Given the description of an element on the screen output the (x, y) to click on. 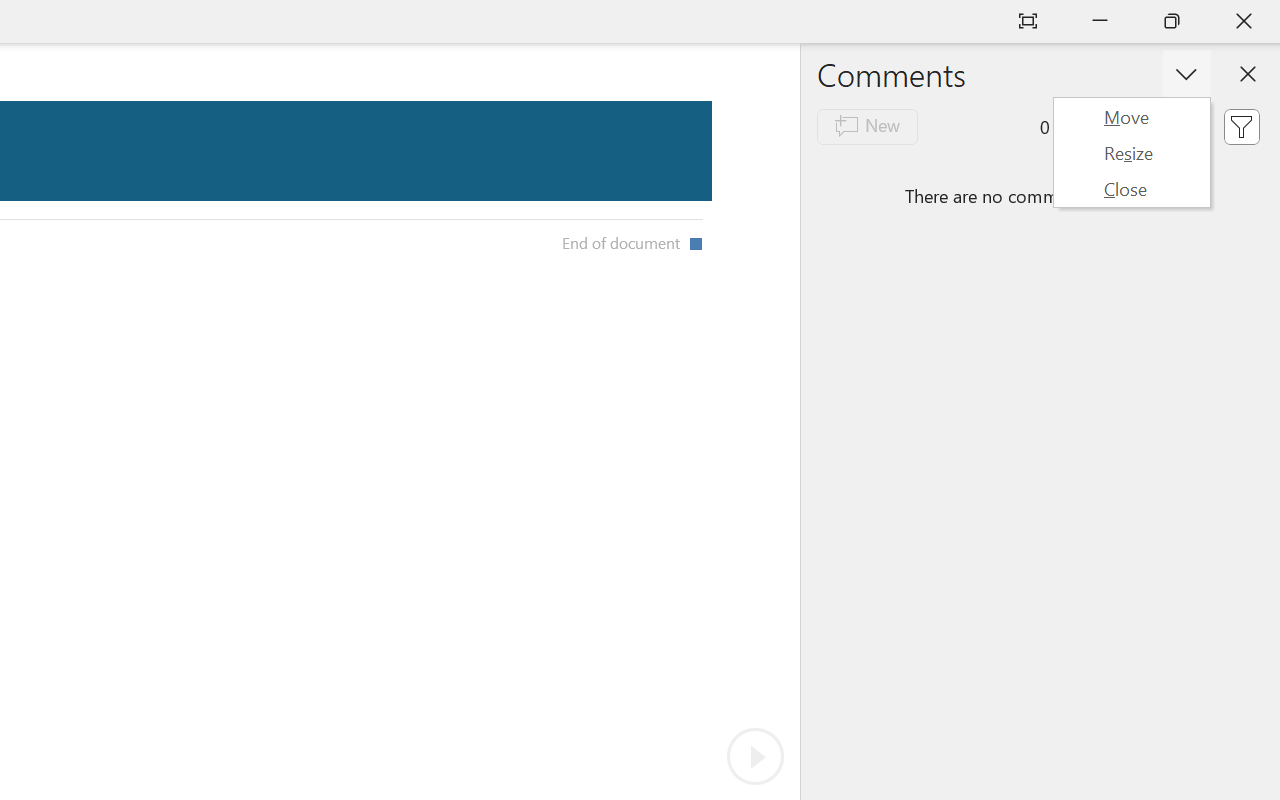
Sign in - Google Accounts (770, 22)
Partnering to create a safer internet (236, 374)
